Given the description of an element on the screen output the (x, y) to click on. 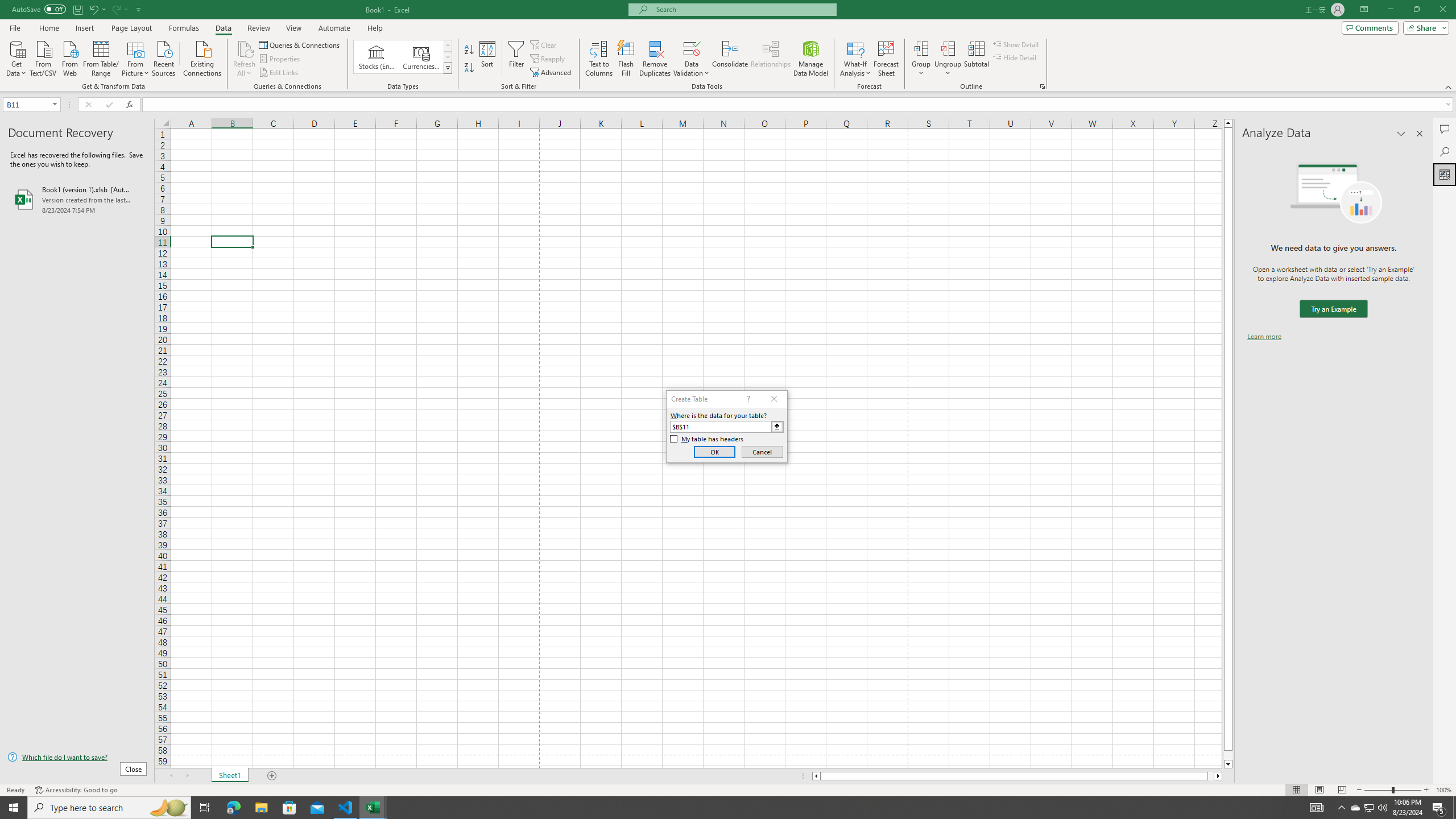
Scroll Left (171, 775)
